Given the description of an element on the screen output the (x, y) to click on. 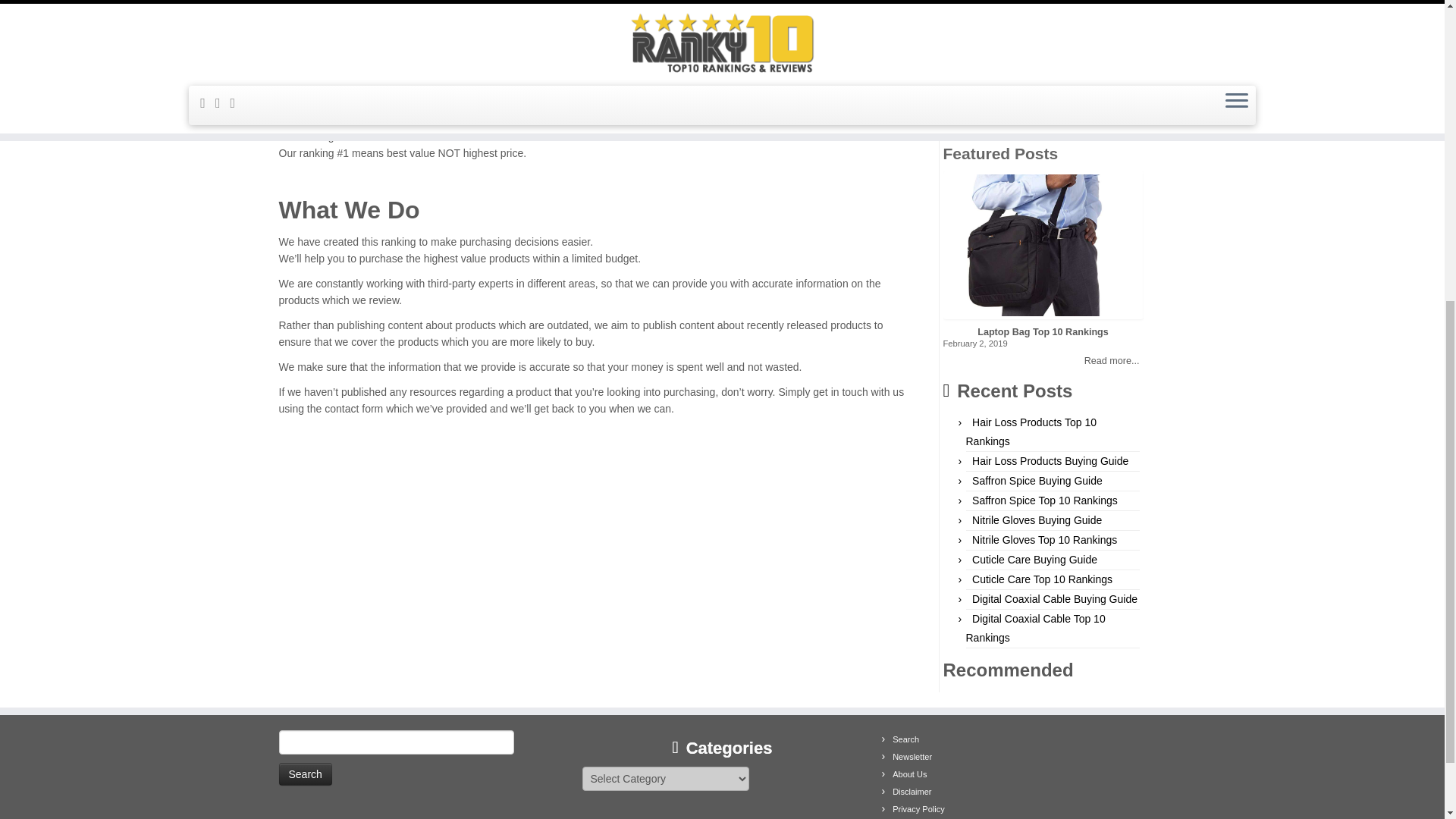
Search (305, 773)
Read more... (1042, 360)
Musical Instruments (1013, 39)
Laptop Bag Top 10 Rankings (1042, 332)
